Given the description of an element on the screen output the (x, y) to click on. 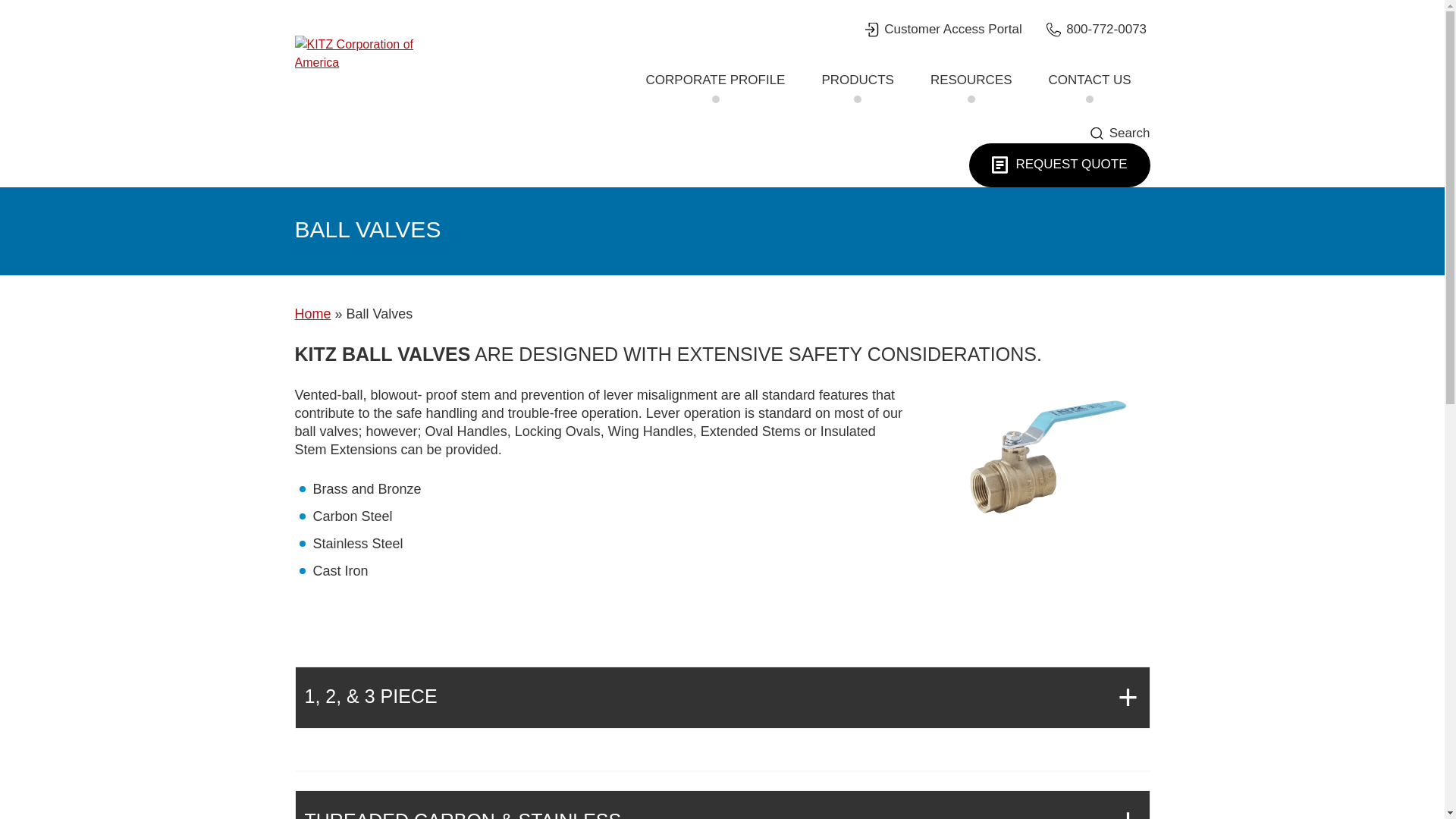
Search (1120, 132)
PRODUCTS (857, 80)
CORPORATE PROFILE (716, 80)
KITZ Corporation of America (369, 54)
CONTACT US (1089, 80)
RESOURCES (970, 80)
Customer Access Portal (943, 28)
REQUEST QUOTE (1059, 165)
800-772-0073 (1096, 28)
